Given the description of an element on the screen output the (x, y) to click on. 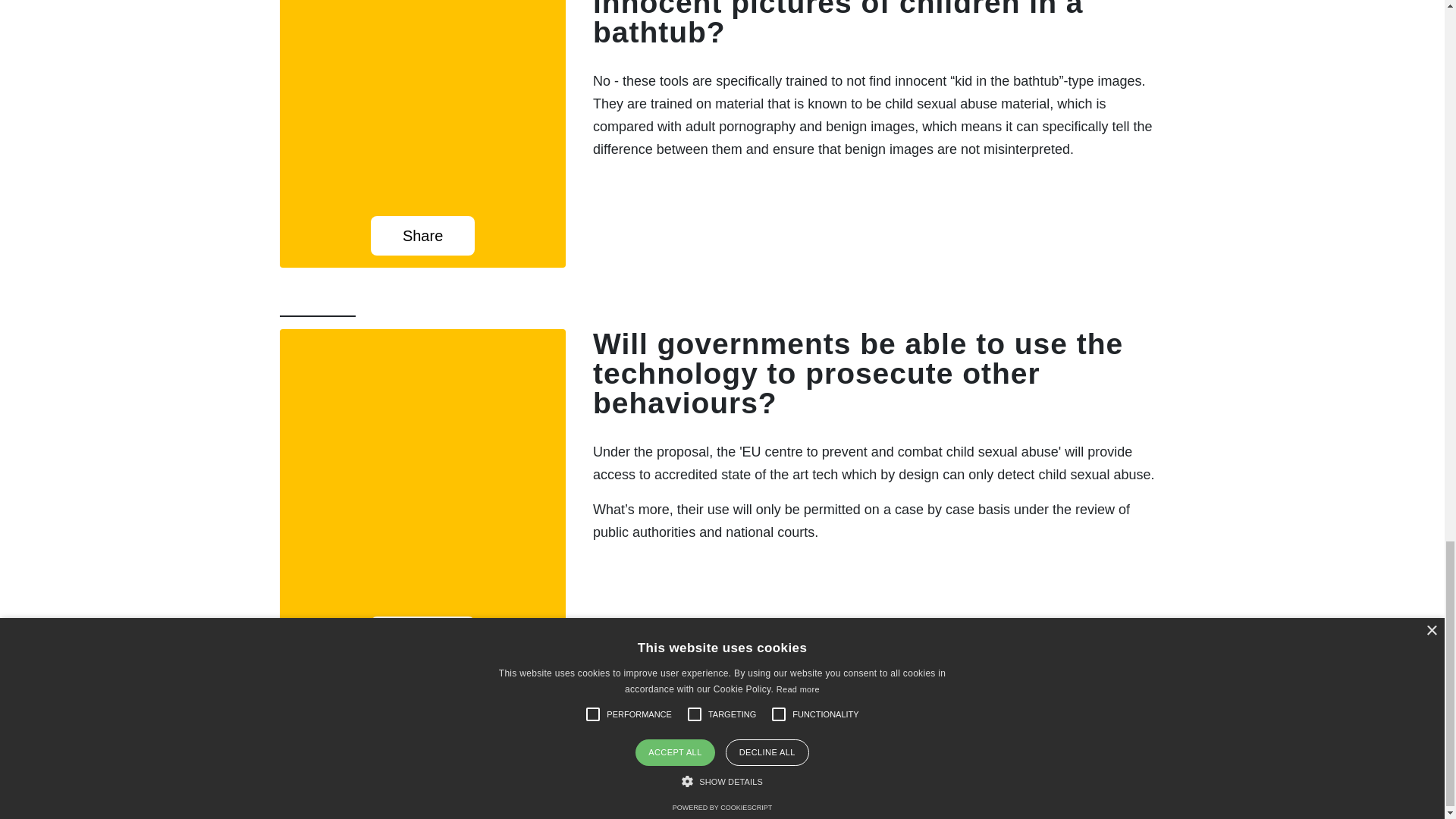
Share (423, 235)
